Given the description of an element on the screen output the (x, y) to click on. 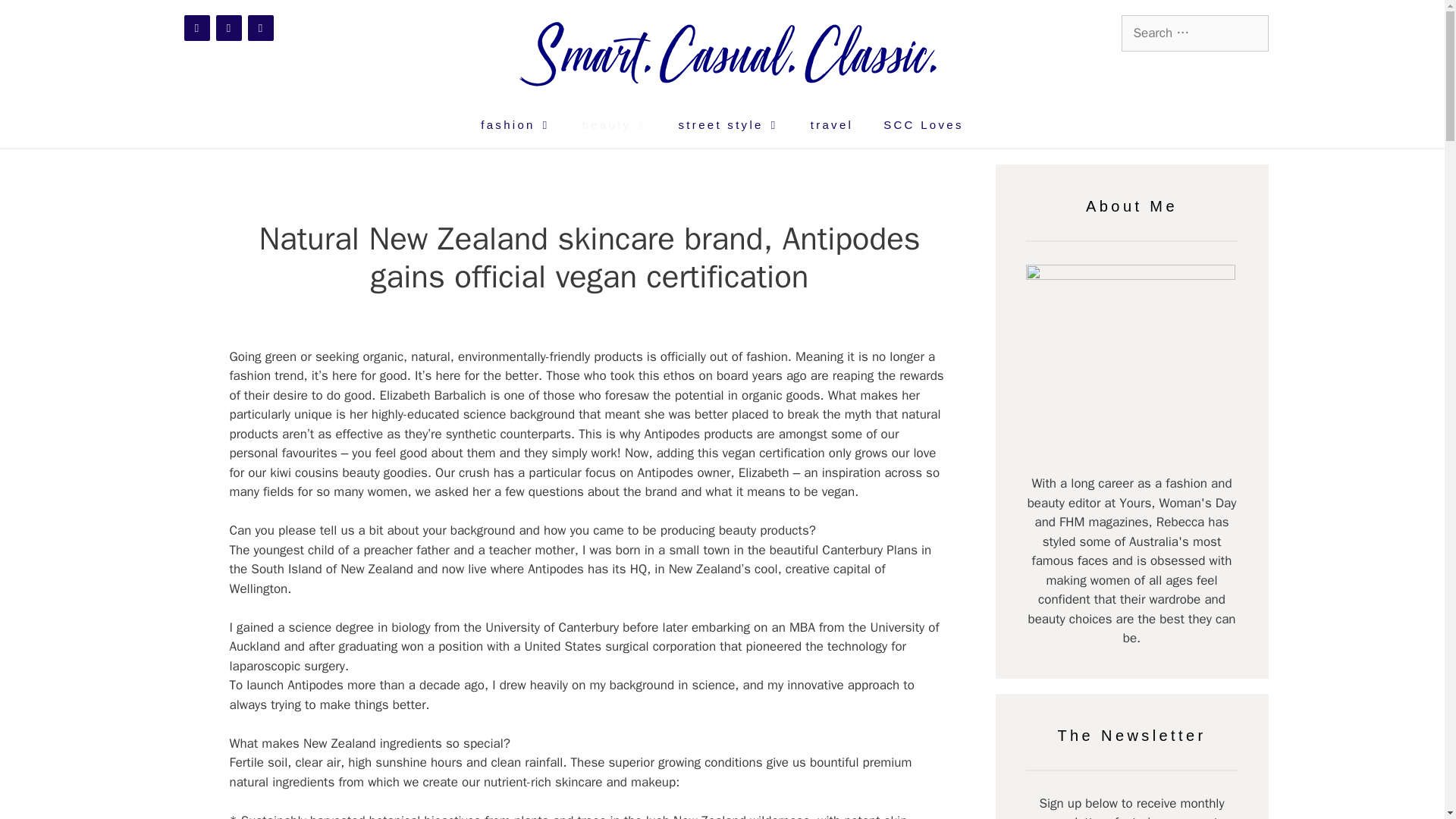
Smart. Casual. Classic. (730, 50)
street style (728, 125)
Smart. Casual. Classic. (730, 50)
SCC Loves (922, 125)
Search (39, 14)
Pinterest (260, 27)
Instagram (228, 27)
fashion (515, 125)
Search for: (1194, 33)
Facebook (196, 27)
